Given the description of an element on the screen output the (x, y) to click on. 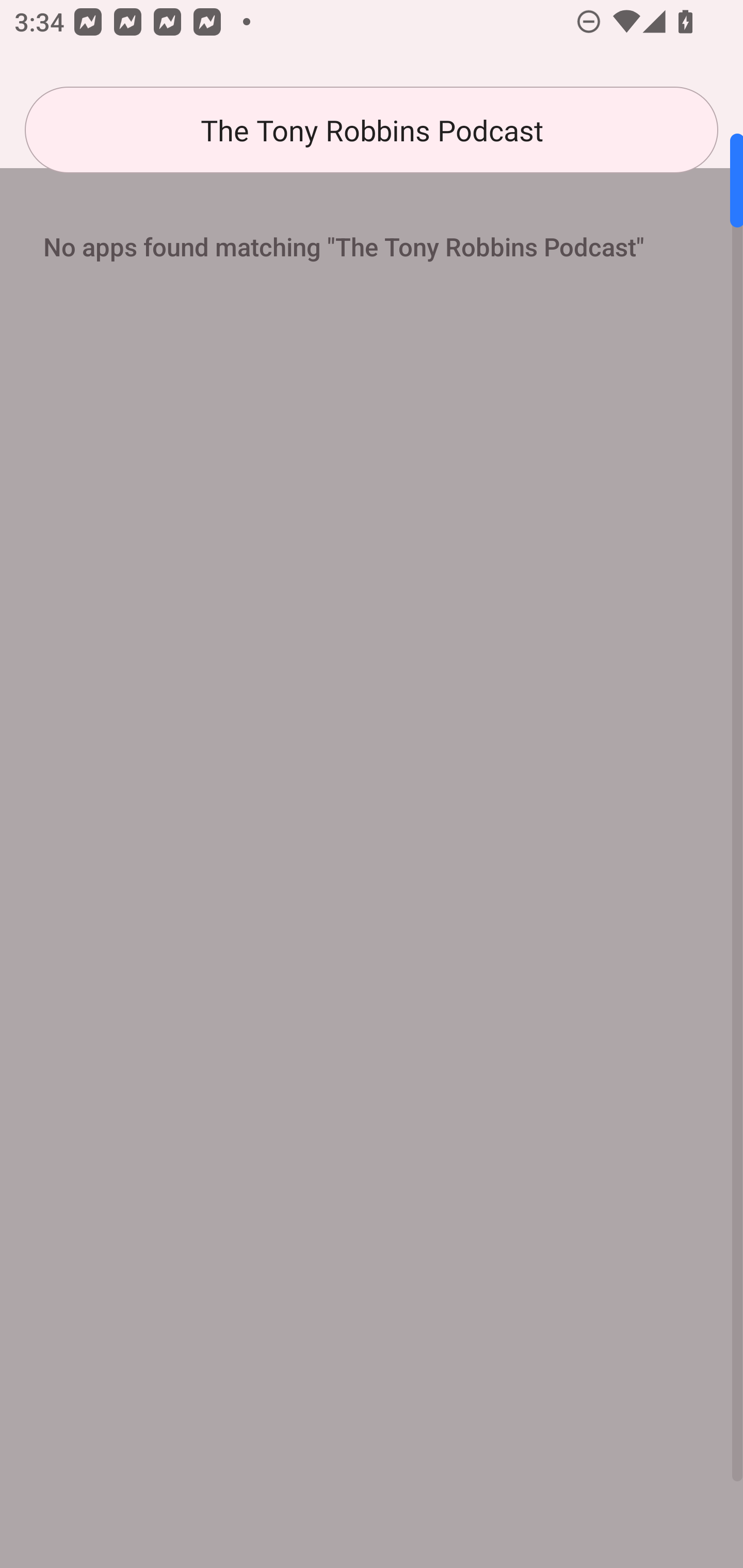
The Tony Robbins Podcast (371, 130)
